Given the description of an element on the screen output the (x, y) to click on. 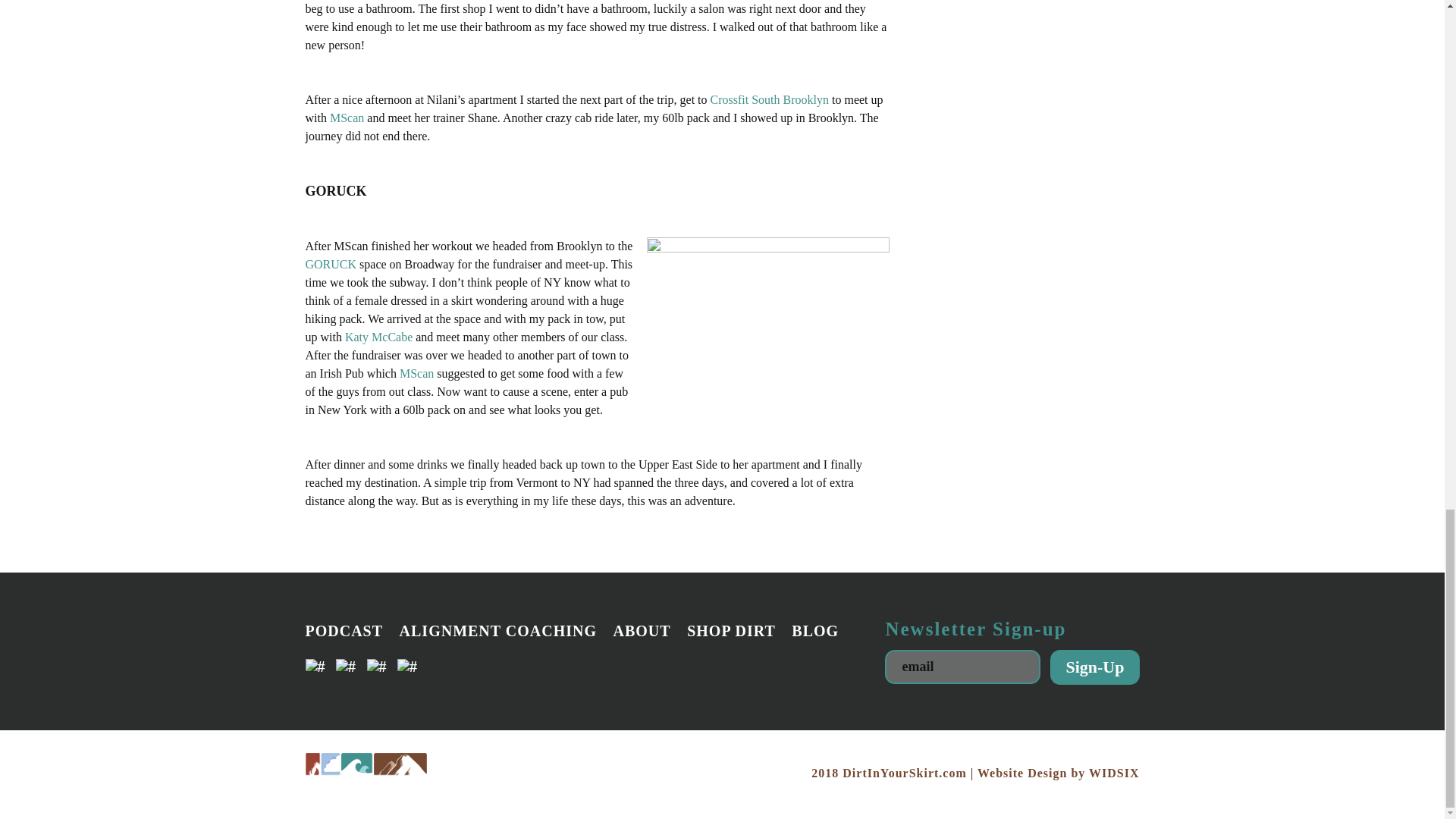
Crossfit South Brooklyn (769, 99)
Katy McCabe (378, 336)
GORUCK (330, 264)
Sign-Up (1093, 667)
MScan (415, 373)
MScan (347, 117)
